Given the description of an element on the screen output the (x, y) to click on. 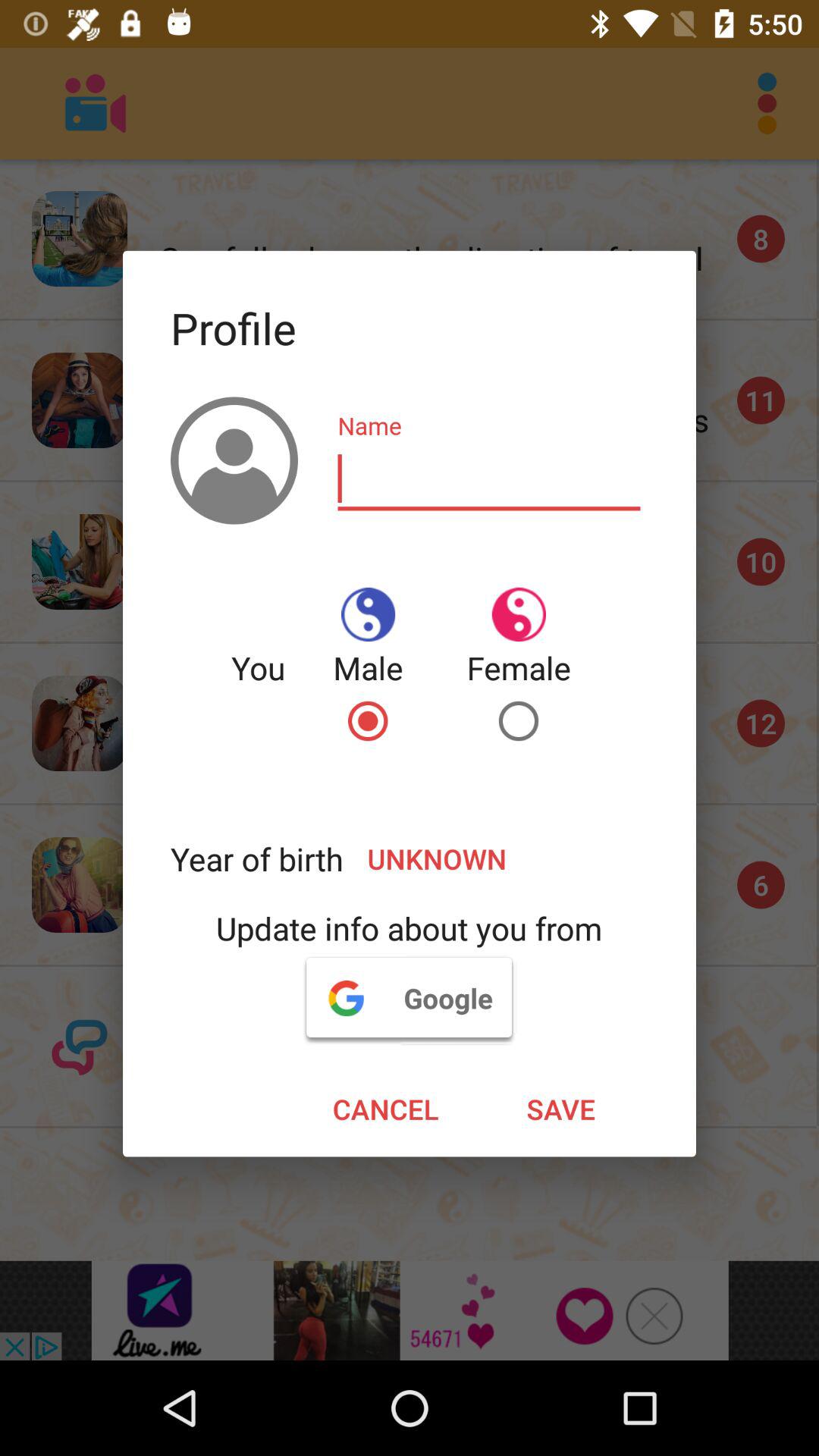
select cancel (385, 1108)
